Given the description of an element on the screen output the (x, y) to click on. 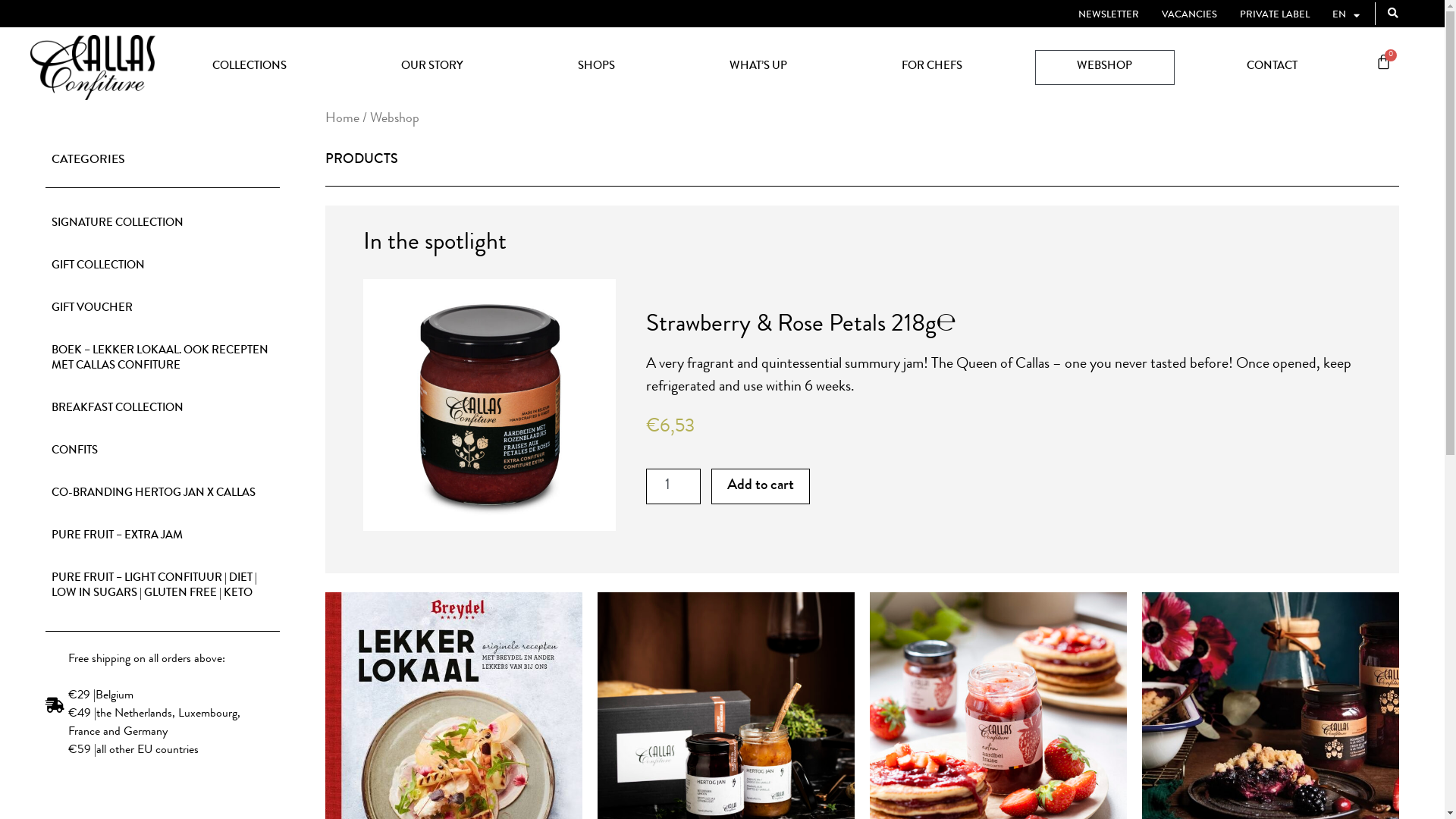
Add to cart Element type: text (760, 486)
PRIVATE LABEL Element type: text (1274, 15)
BREAKFAST COLLECTION Element type: text (162, 409)
FOR CHEFS Element type: text (931, 67)
SHOPS Element type: text (595, 67)
GIFT COLLECTION Element type: text (162, 266)
GIFT VOUCHER Element type: text (162, 308)
SIGNATURE COLLECTION Element type: text (162, 224)
Home Element type: text (342, 119)
CONFITS Element type: text (162, 451)
NEWSLETTER Element type: text (1108, 15)
CO-BRANDING HERTOG JAN X CALLAS Element type: text (162, 493)
CONTACT Element type: text (1271, 67)
VACANCIES Element type: text (1189, 15)
EN Element type: text (1345, 15)
COLLECTIONS Element type: text (248, 67)
0 Element type: text (1383, 63)
WEBSHOP Element type: text (1103, 67)
OUR STORY Element type: text (432, 67)
